Given the description of an element on the screen output the (x, y) to click on. 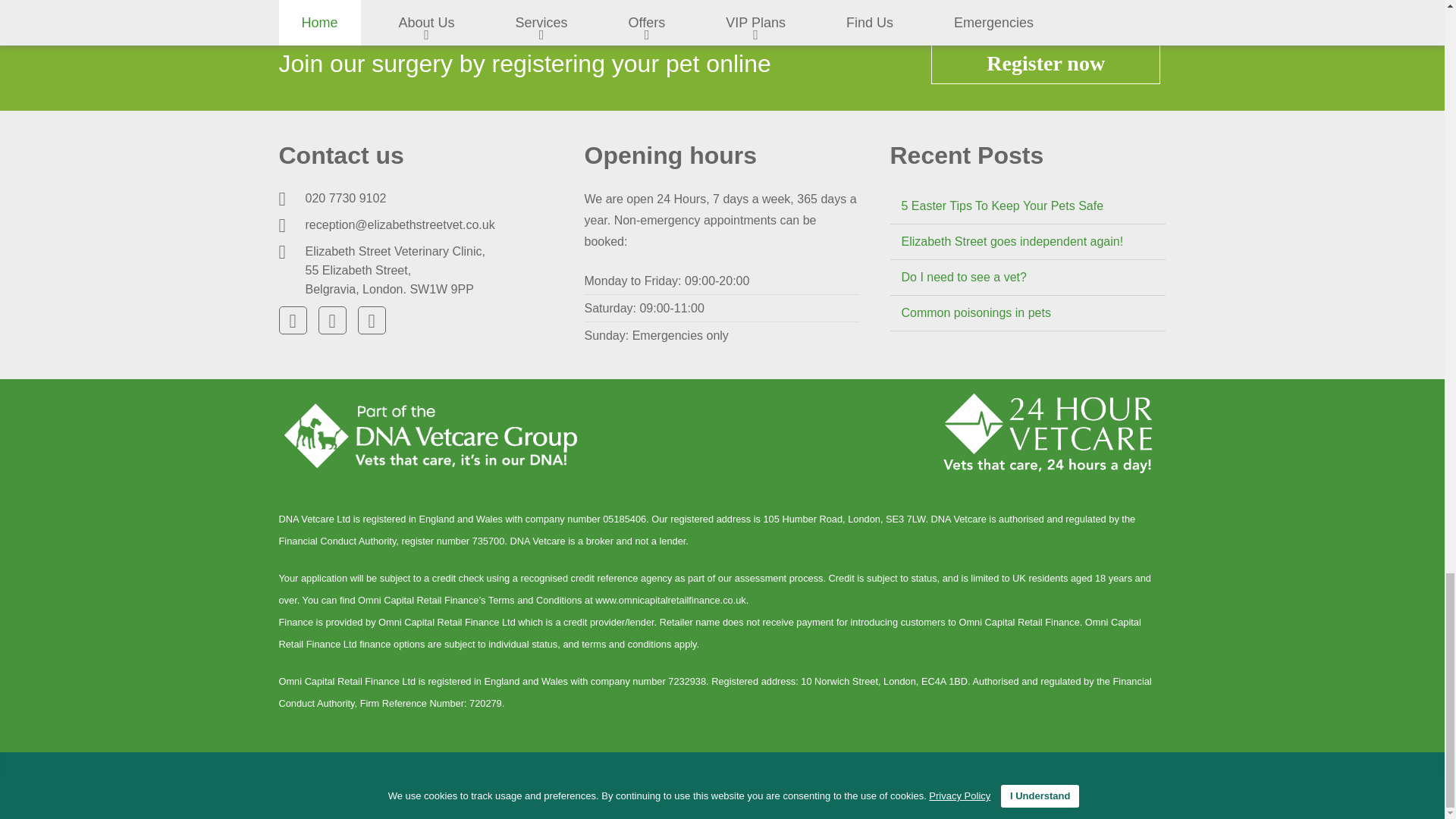
YouTube (332, 320)
Facebook (293, 320)
Instagram (371, 320)
